Given the description of an element on the screen output the (x, y) to click on. 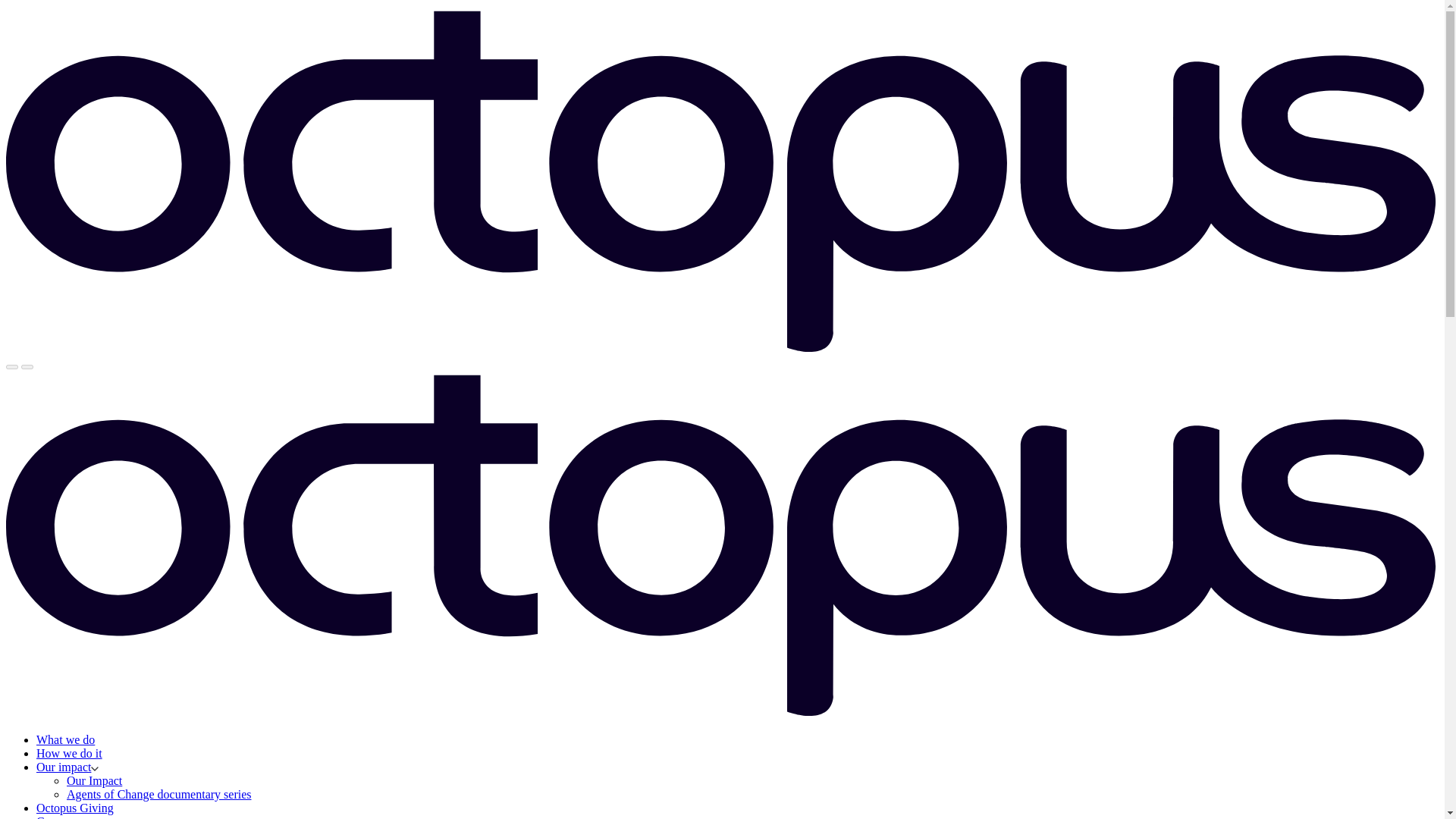
Careers (55, 816)
Our Impact (94, 780)
Octopus Giving (74, 807)
How we do it (68, 753)
What we do (65, 739)
Agents of Change documentary series (158, 793)
Our impact (67, 766)
